Given the description of an element on the screen output the (x, y) to click on. 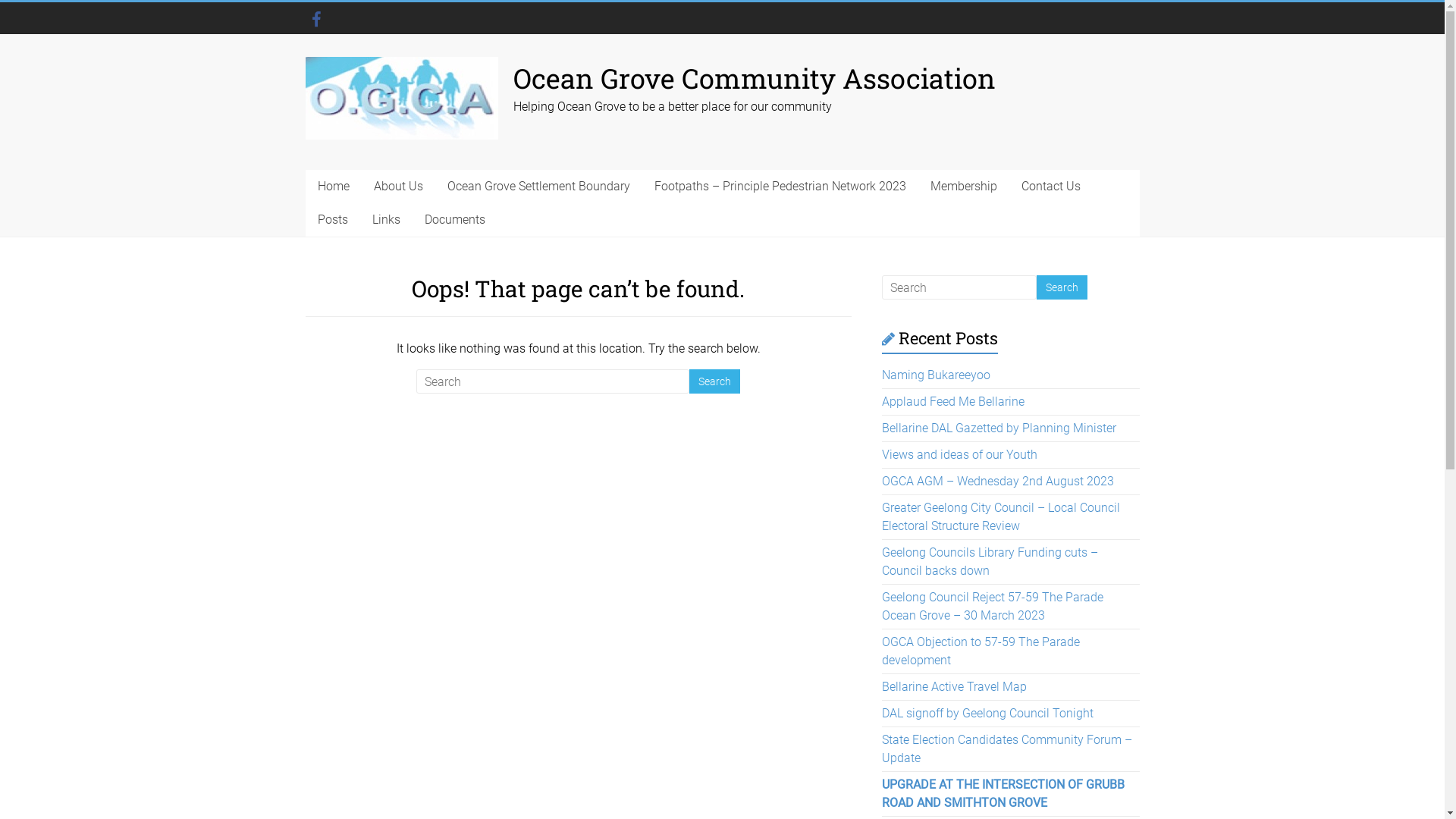
Posts Element type: text (331, 219)
About Us Element type: text (397, 186)
Search Element type: text (1060, 287)
Views and ideas of our Youth Element type: text (959, 454)
Documents Element type: text (454, 219)
Home Element type: text (332, 186)
Membership Element type: text (962, 186)
Contact Us Element type: text (1050, 186)
Ocean Grove Settlement Boundary Element type: text (538, 186)
Search Element type: text (714, 381)
UPGRADE AT THE INTERSECTION OF GRUBB ROAD AND SMITHTON GROVE Element type: text (1002, 793)
Naming Bukareeyoo Element type: text (935, 374)
Bellarine DAL Gazetted by Planning Minister Element type: text (998, 427)
DAL signoff by Geelong Council Tonight Element type: text (987, 713)
Bellarine Active Travel Map Element type: text (953, 686)
Links Element type: text (385, 219)
Ocean Grove Community Association Element type: text (753, 77)
OGCA Objection to 57-59 The Parade development Element type: text (980, 650)
Applaud Feed Me Bellarine Element type: text (952, 401)
